Given the description of an element on the screen output the (x, y) to click on. 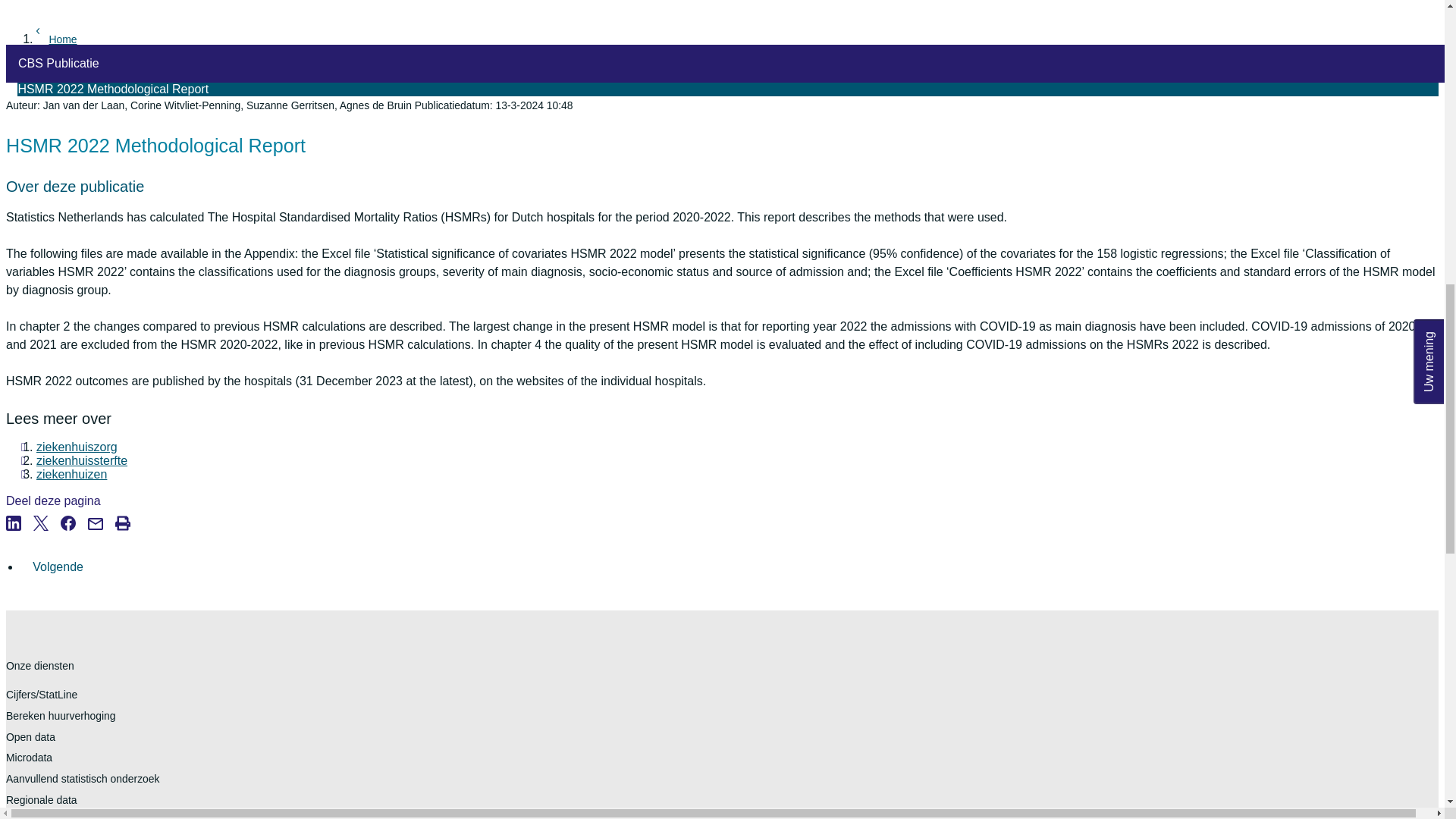
Deel deze pagina op Facebook (74, 540)
Deel deze pagina op LinkedIn (19, 540)
Mail deze pagina (101, 540)
Deel deze pagina op X (47, 540)
